Given the description of an element on the screen output the (x, y) to click on. 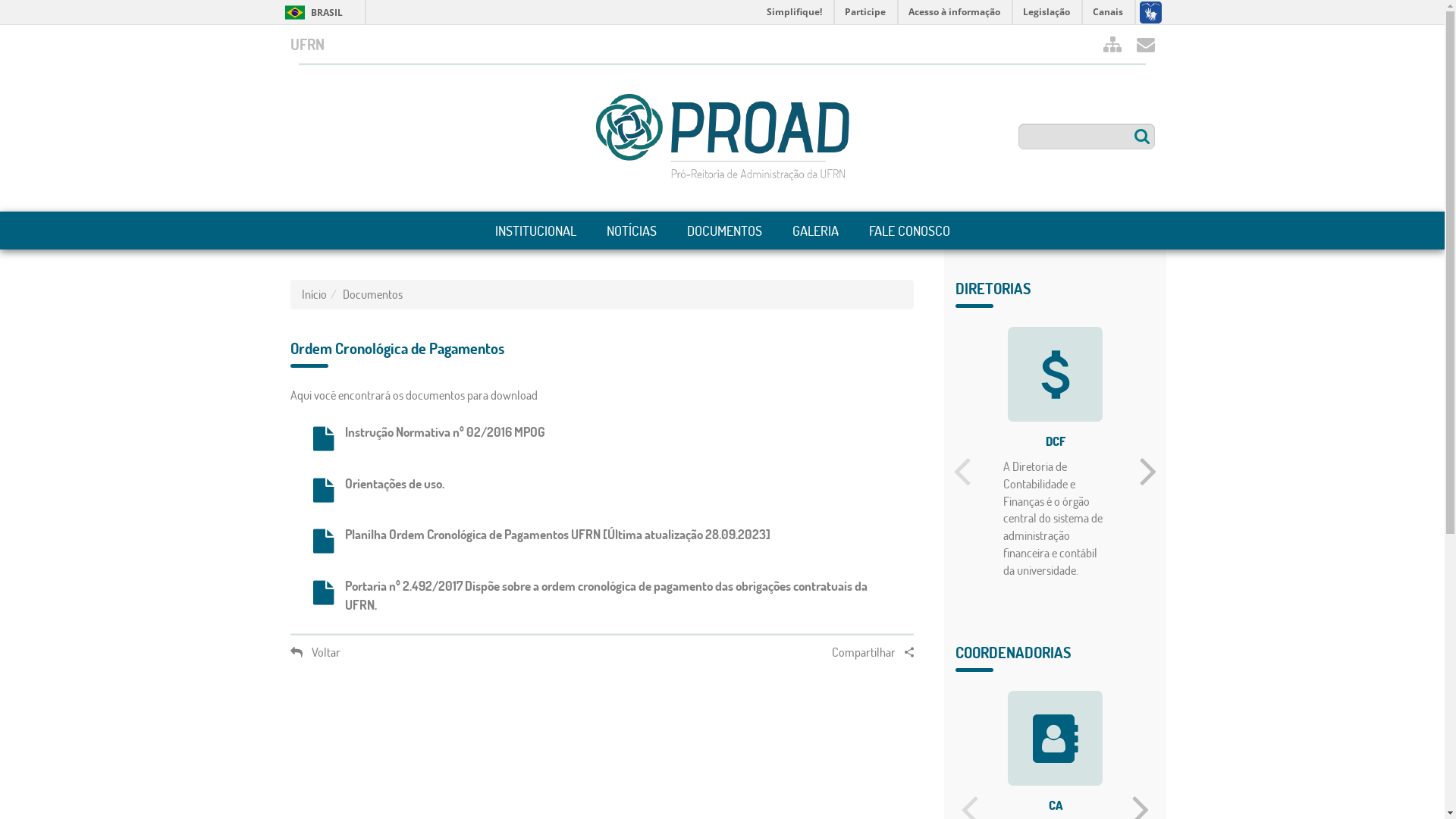
BRASIL Element type: text (295, 12)
FALE CONOSCO Element type: text (909, 230)
Logomarca da PROAD Element type: hover (722, 137)
INSTITUCIONAL Element type: text (534, 230)
DOCUMENTOS Element type: text (724, 230)
Compartilhar     Element type: text (872, 652)
Documentos Element type: text (372, 293)
Ir para o mapa do site Element type: hover (1111, 43)
GALERIA Element type: text (814, 230)
UFRN Element type: text (306, 43)
   Voltar Element type: text (314, 652)
